Given the description of an element on the screen output the (x, y) to click on. 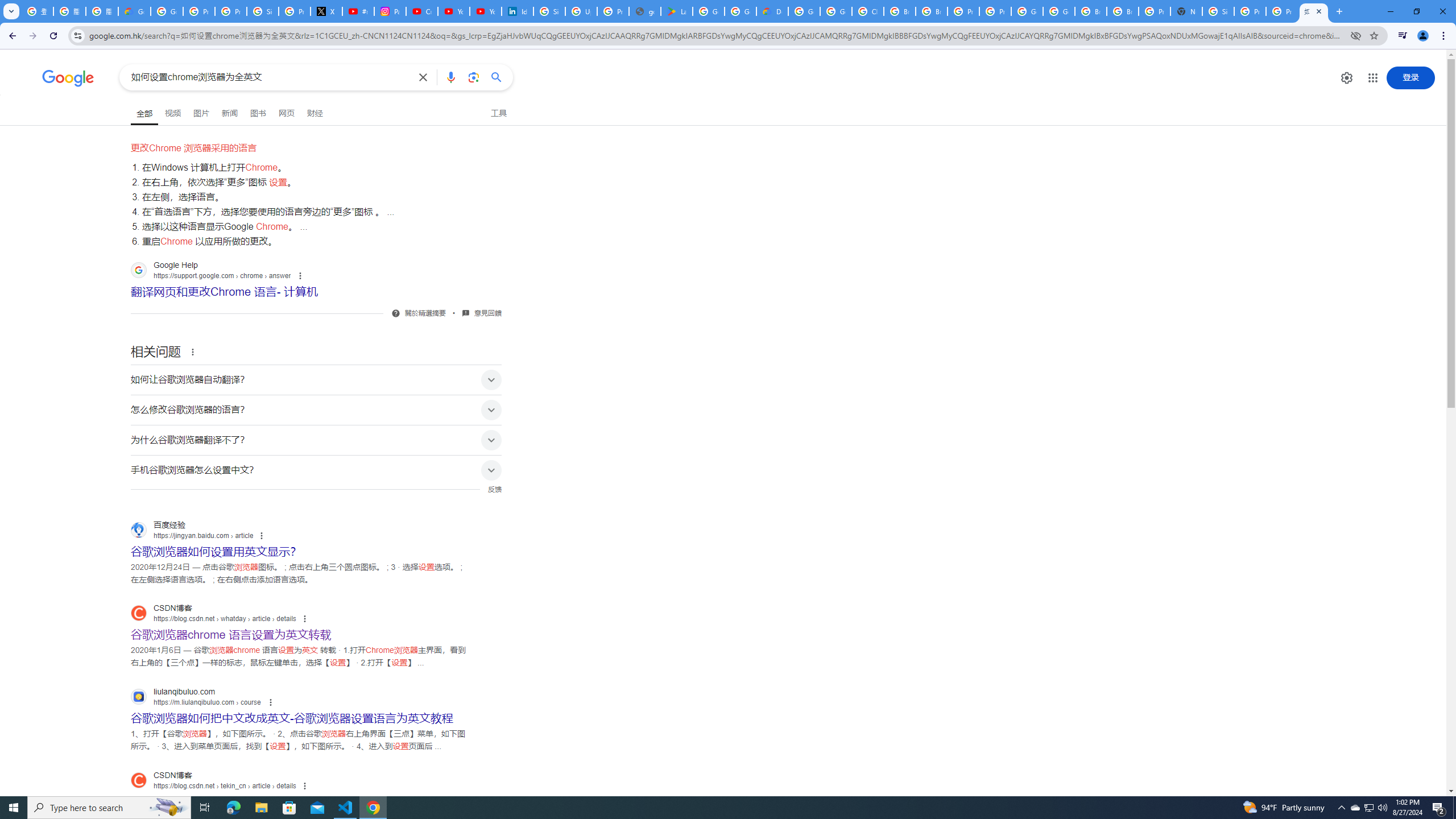
#nbabasketballhighlights - YouTube (358, 11)
